Given the description of an element on the screen output the (x, y) to click on. 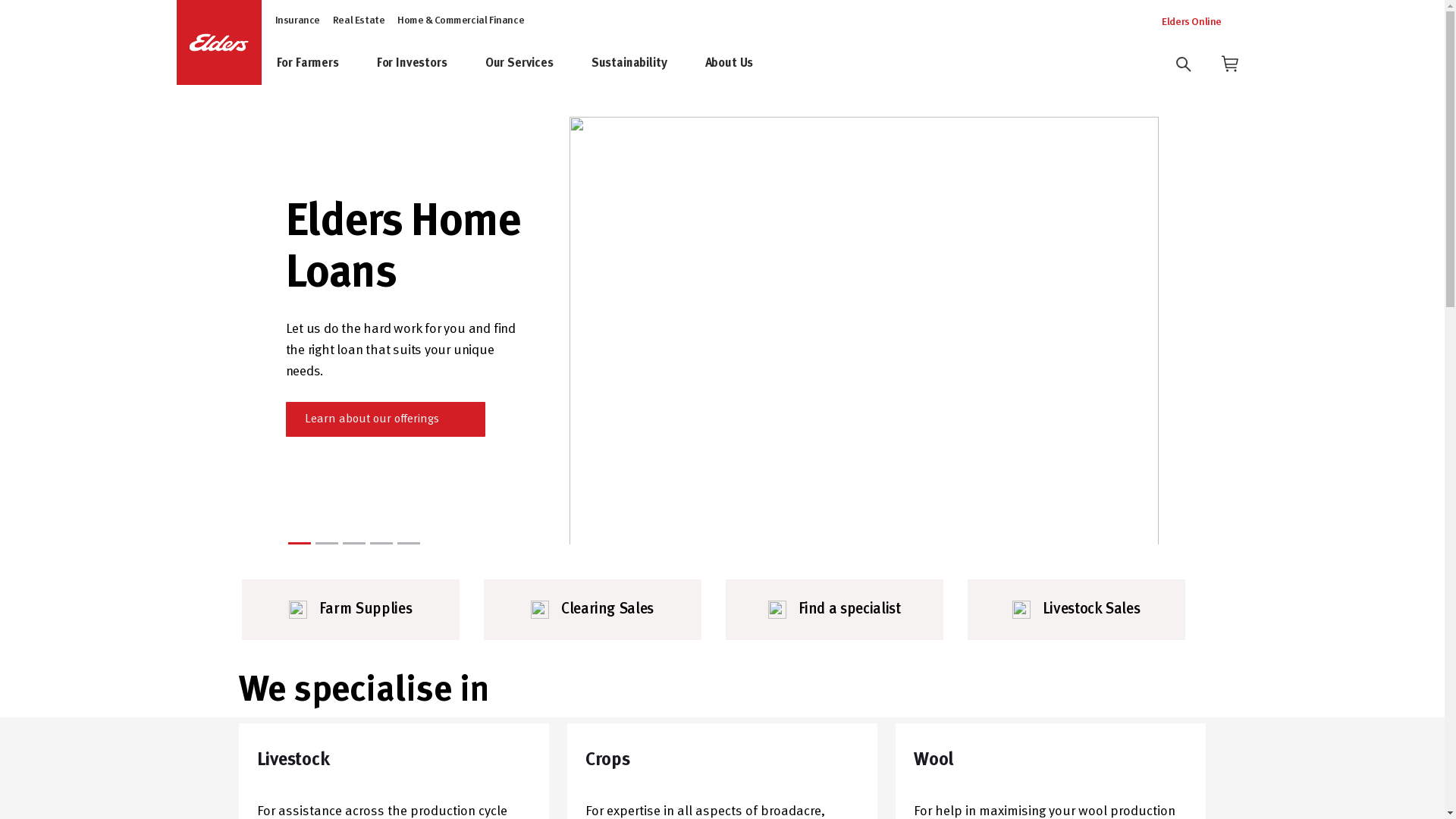
Clearing Sales Element type: text (592, 609)
Find out how Element type: text (351, 408)
Elders Online Element type: text (1199, 23)
Home & Commercial Finance Element type: text (460, 21)
For Farmers Element type: text (322, 63)
Previous Element type: text (245, 330)
About Us Element type: text (745, 63)
Real Estate Element type: text (358, 21)
Find a specialist Element type: text (833, 609)
Farm Supplies Element type: text (349, 609)
Livestock Sales Element type: text (1076, 609)
Next Element type: text (1142, 330)
Insurance Element type: text (296, 21)
Sustainability Element type: text (644, 63)
For Investors Element type: text (427, 63)
Our Services Element type: text (534, 63)
